Given the description of an element on the screen output the (x, y) to click on. 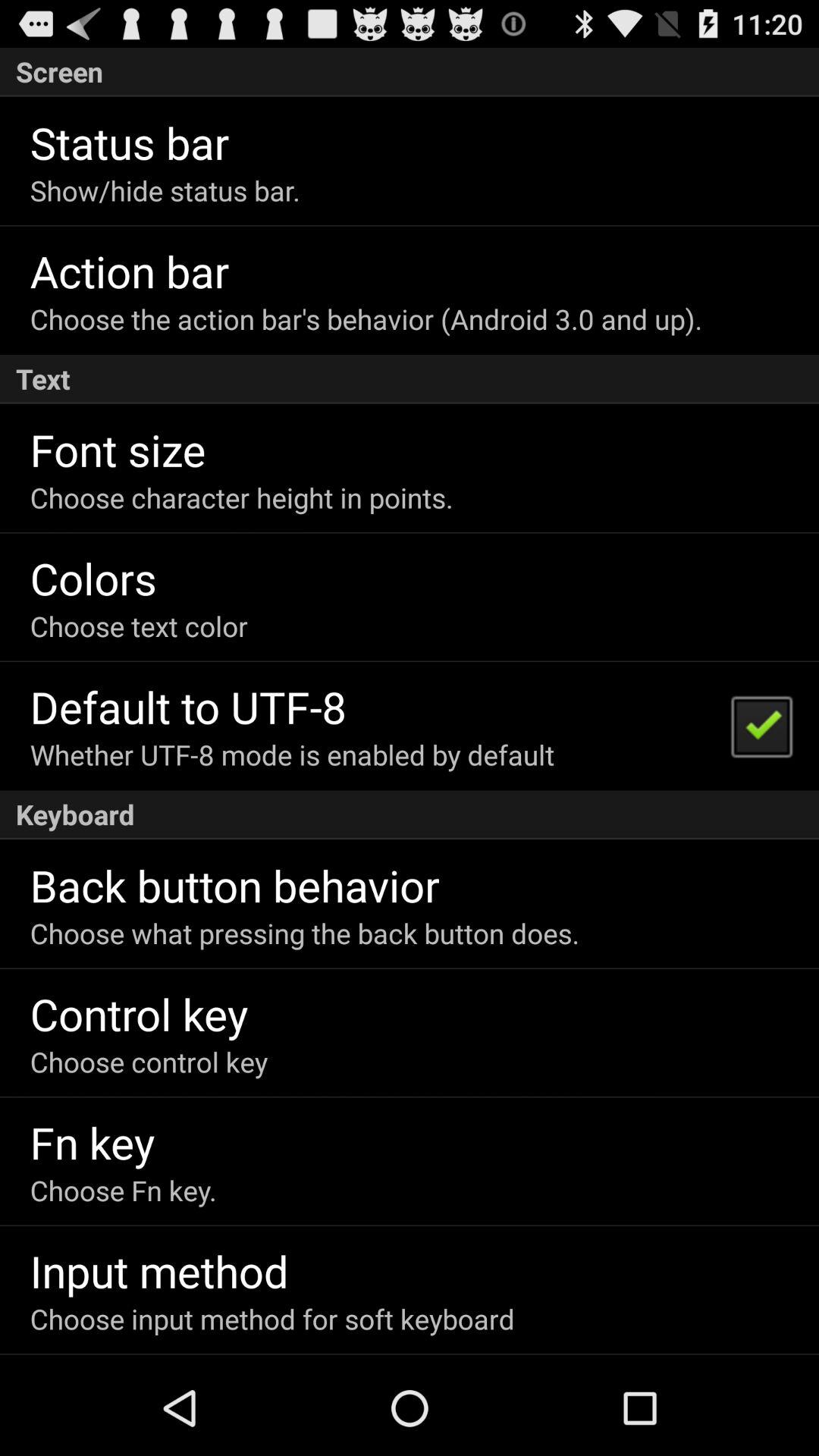
press app above action bar icon (165, 190)
